Given the description of an element on the screen output the (x, y) to click on. 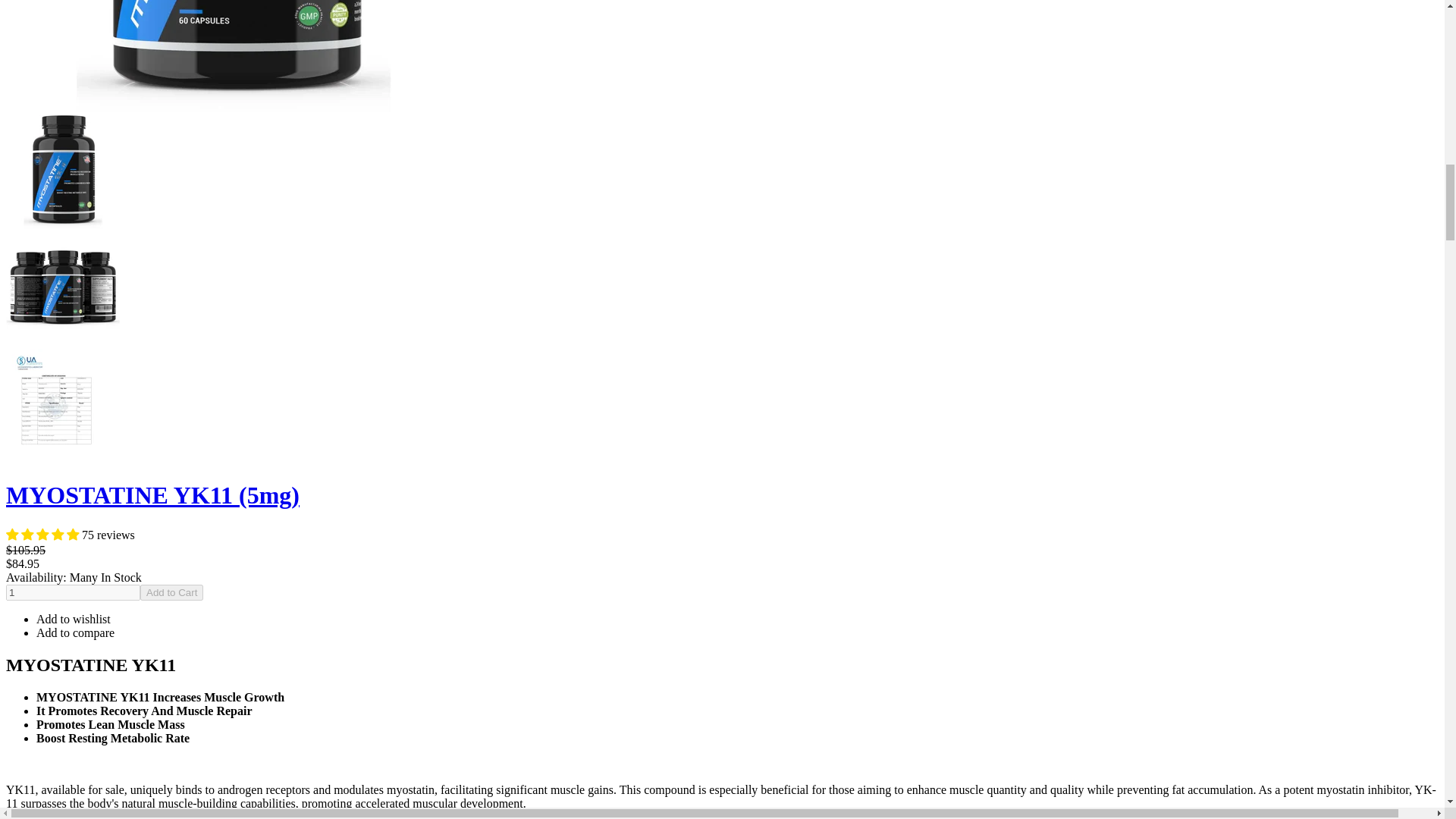
Add to wishlist (73, 618)
Add to compare (75, 632)
1 (72, 592)
